Given the description of an element on the screen output the (x, y) to click on. 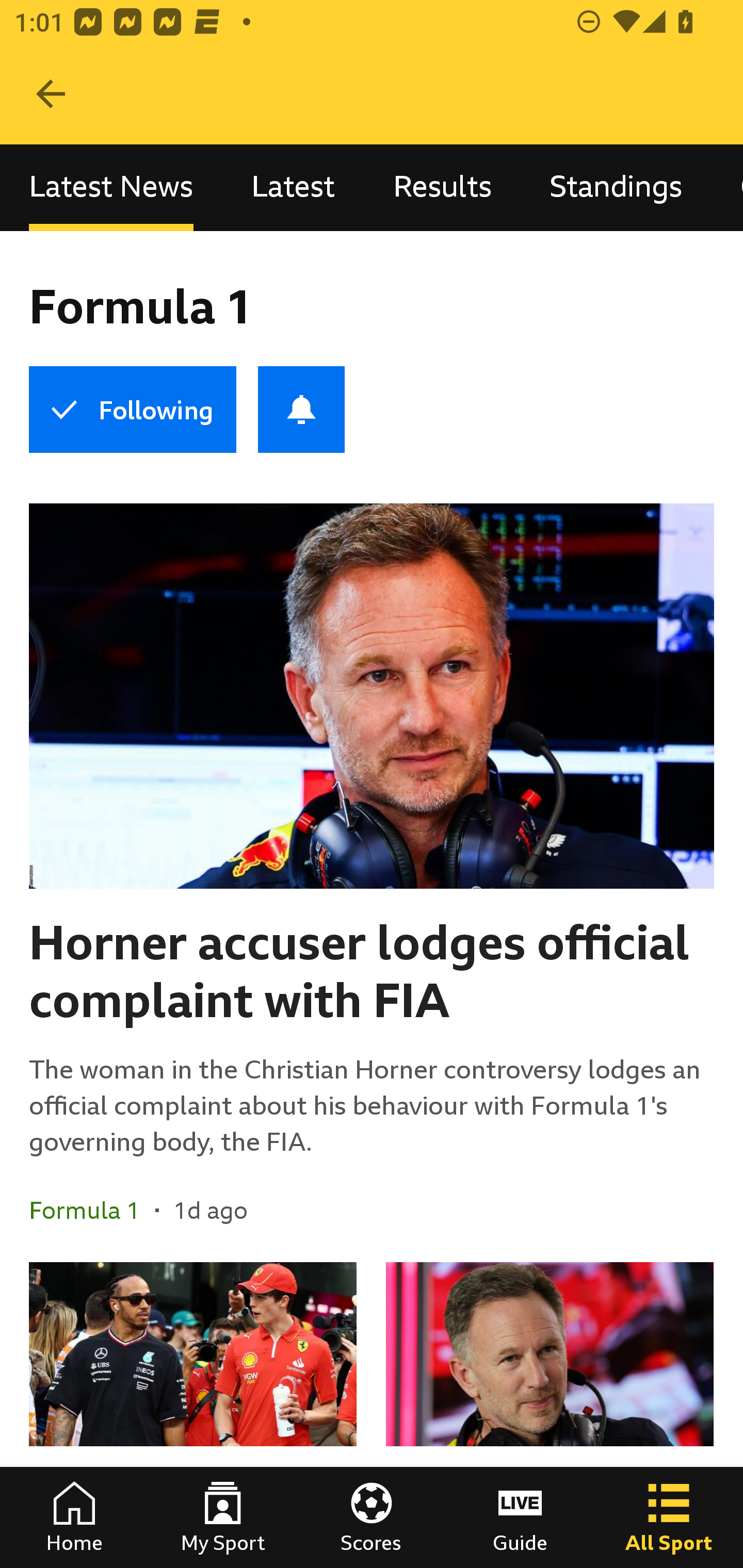
Navigate up (50, 93)
Latest News, selected Latest News (111, 187)
Latest (293, 187)
Results (442, 187)
Standings (615, 187)
Calendar (727, 187)
Following Formula 1 Following (132, 409)
Push notifications for Formula 1 (300, 409)
Bearman 'proud' of Hamilton and Alonso praise (192, 1415)
Home (74, 1517)
My Sport (222, 1517)
Scores (371, 1517)
Guide (519, 1517)
